Given the description of an element on the screen output the (x, y) to click on. 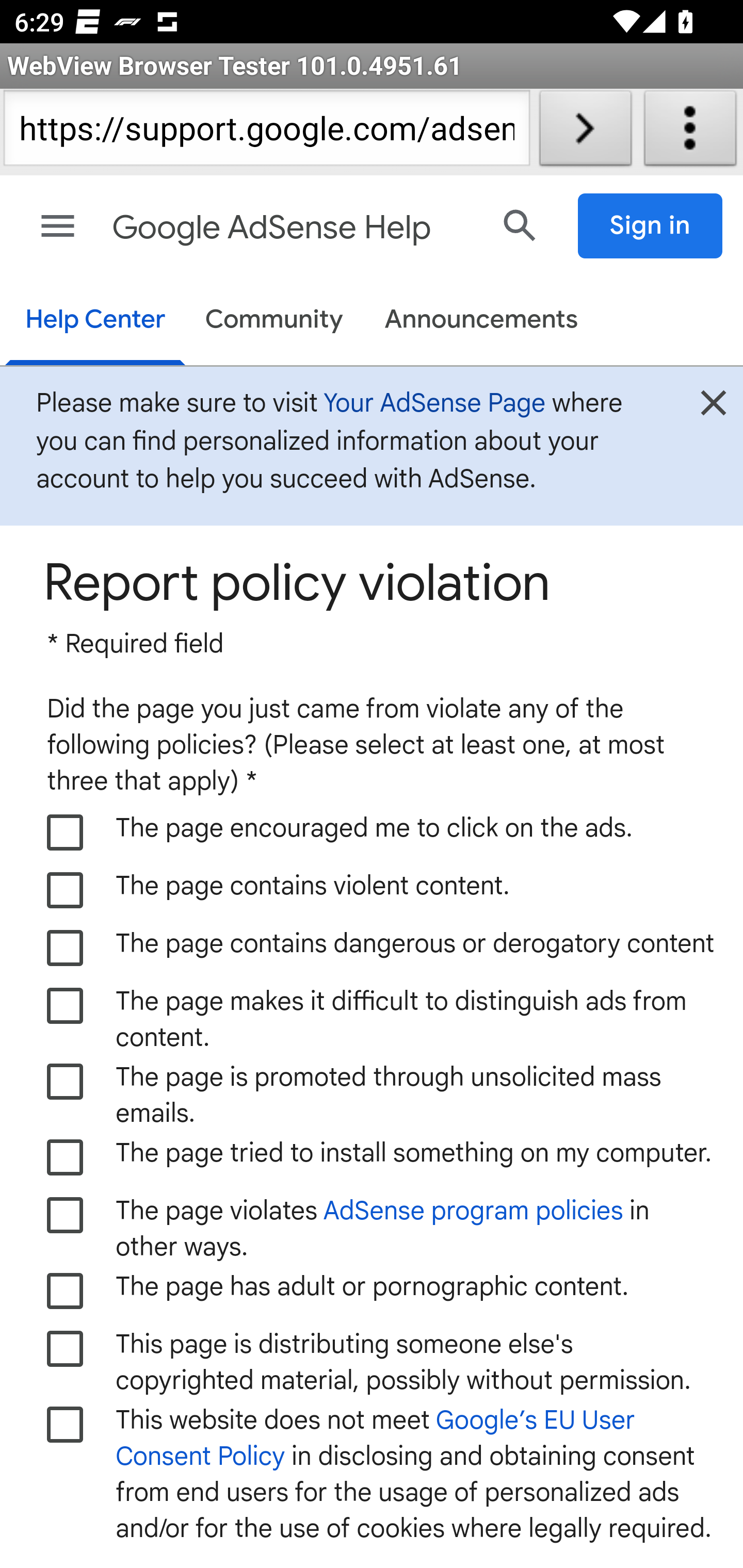
Load URL (585, 132)
About WebView (690, 132)
Main menu (58, 226)
Google AdSense Help (292, 227)
Search Help Center (519, 225)
Sign in (650, 226)
Help Center (94, 320)
Community (274, 320)
Announcements (480, 320)
Close (713, 408)
Your AdSense Page (433, 402)
The page encouraged me to click on the ads. (65, 832)
The page contains violent content. (65, 890)
The page contains dangerous or derogatory content (65, 948)
The page has adult or pornographic content. (65, 1291)
